Given the description of an element on the screen output the (x, y) to click on. 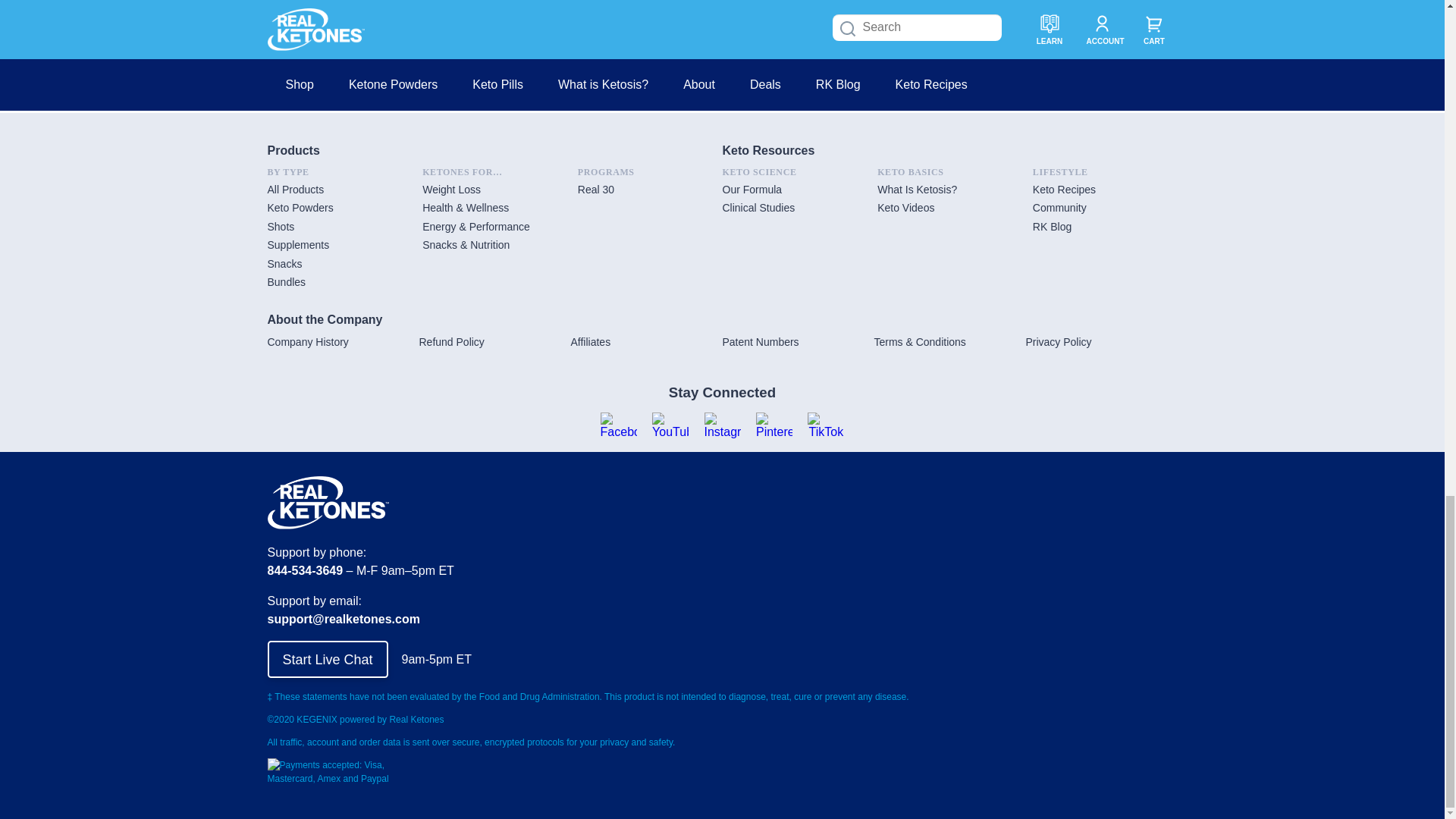
Shots (280, 226)
Supplements (297, 244)
The Keto-Friendly Starbucks Lineup - Fall Edition (722, 29)
Snacks (283, 263)
Bundles (285, 282)
Mind Your Mind: Top Supplements For Mental Performance  (1021, 29)
Keto Powders (299, 207)
